Given the description of an element on the screen output the (x, y) to click on. 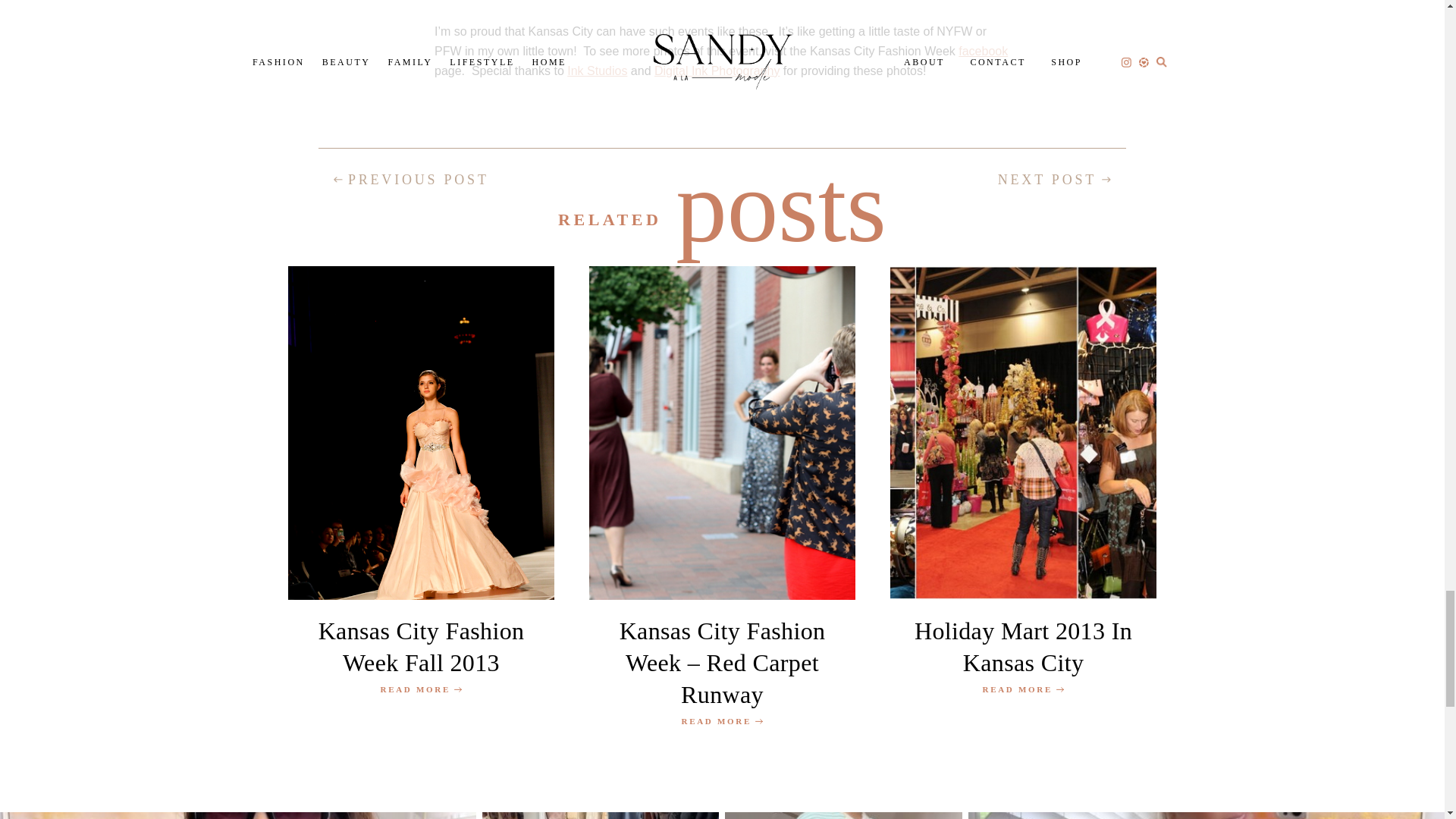
Digital Ink Photography (715, 70)
PREVIOUS POST (411, 179)
facebook (982, 51)
NEXT POST (1053, 179)
Ink Studios (597, 70)
